Given the description of an element on the screen output the (x, y) to click on. 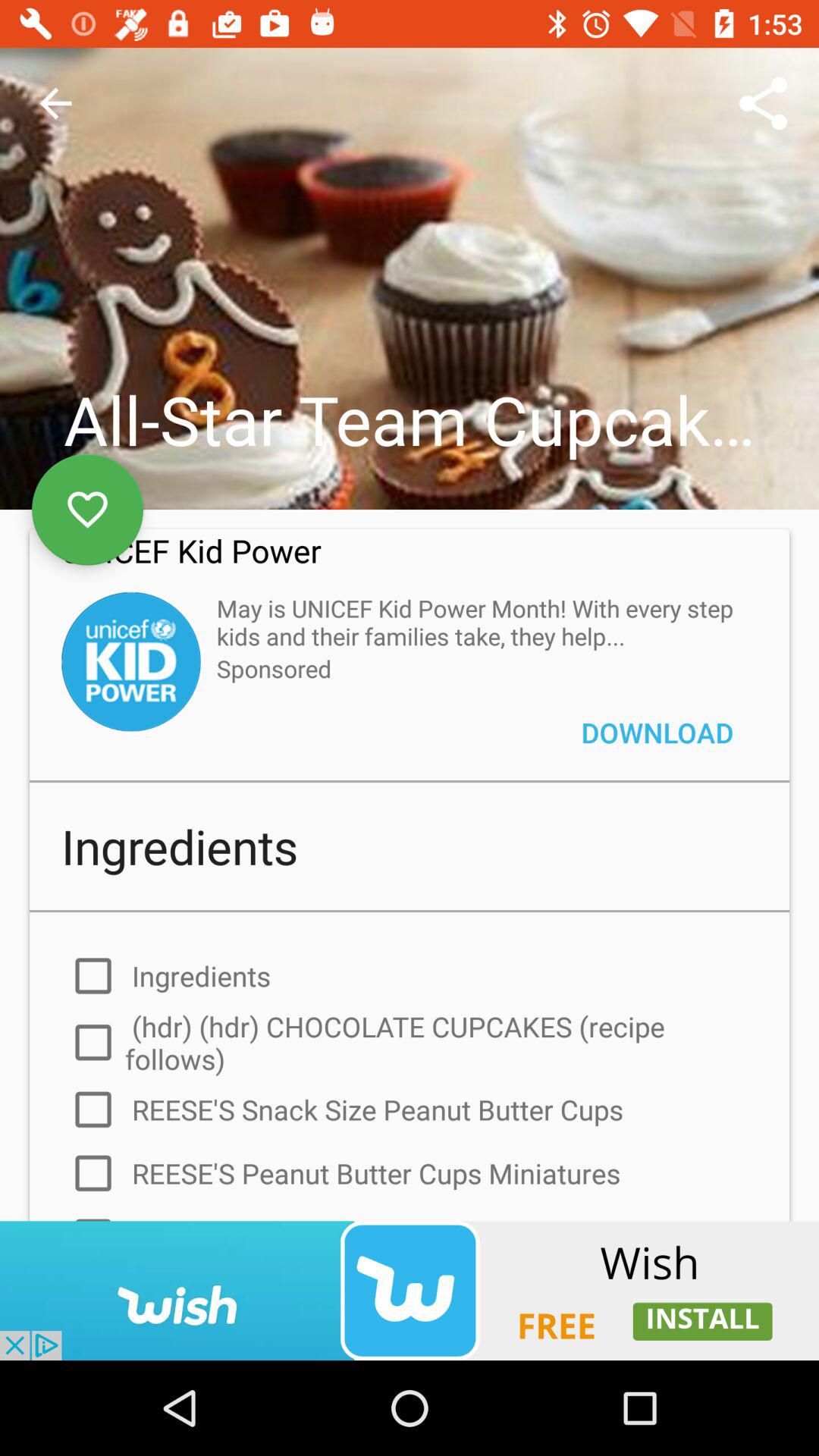
save (87, 509)
